Given the description of an element on the screen output the (x, y) to click on. 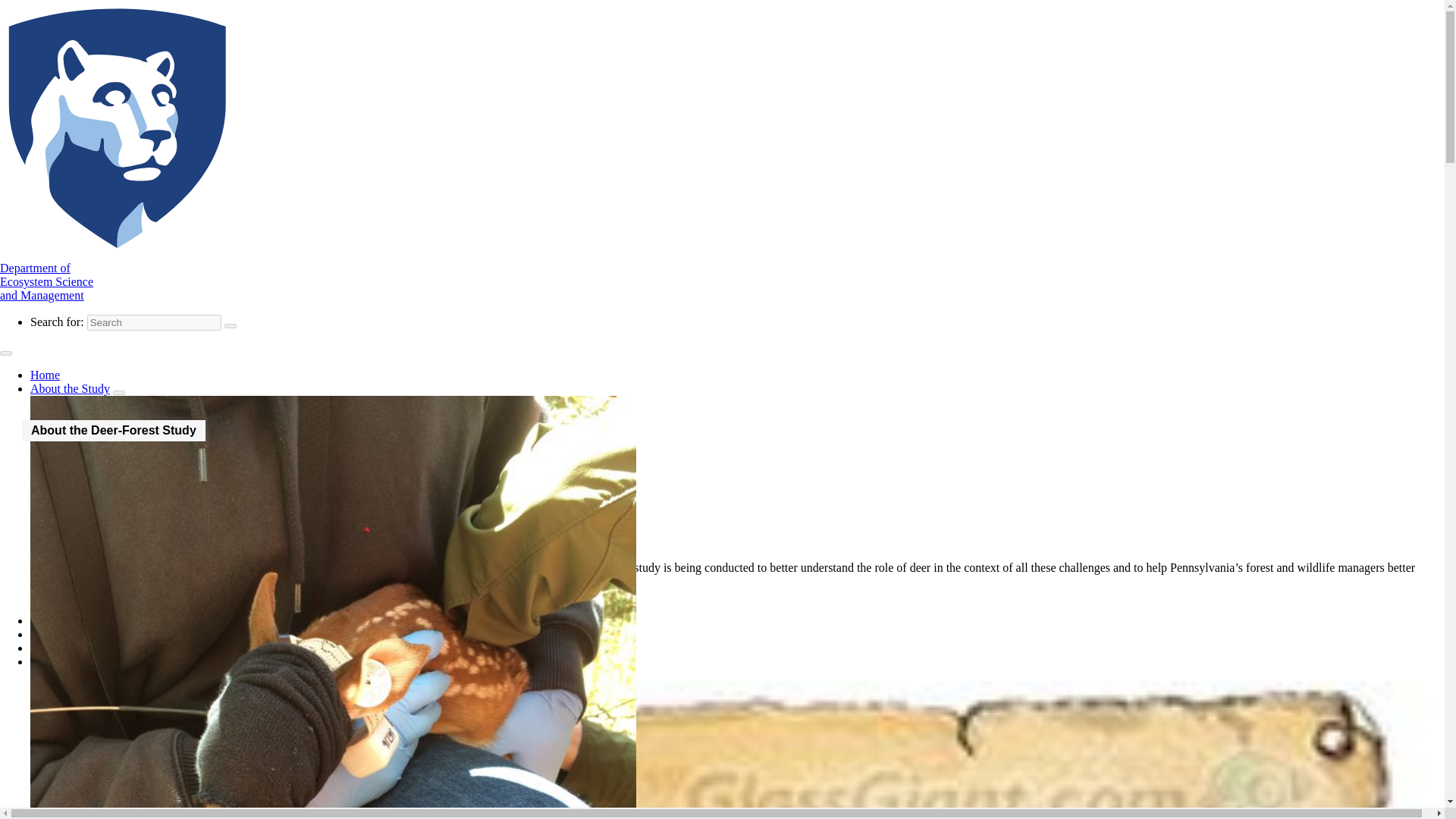
Study Areas (85, 467)
Field Techs (83, 508)
About the Study (46, 281)
Home (95, 453)
Webinars, Videos, and Podcasts (44, 374)
Photo Gallery (132, 521)
More about the Deer-Forest Study (63, 620)
Deer Monitoring (113, 606)
Vegetation Monitoring (95, 481)
About the Study (110, 494)
Contact (70, 388)
Publications (49, 661)
Blog (60, 647)
